Given the description of an element on the screen output the (x, y) to click on. 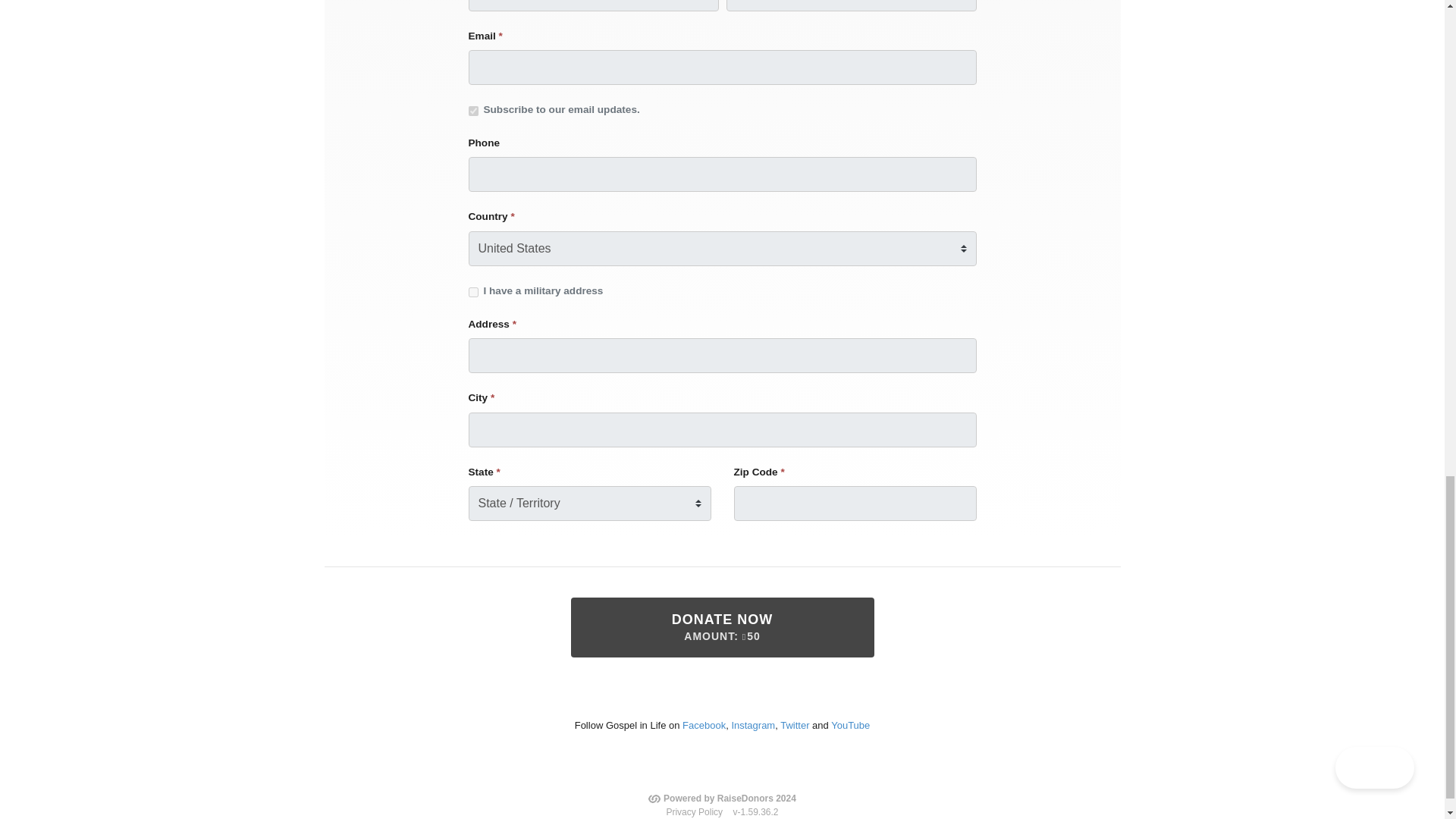
YouTube (850, 725)
Privacy Policy (693, 811)
Powered by RaiseDonors (721, 798)
Powered by RaiseDonors 2024 (721, 798)
Instagram (752, 725)
on (473, 292)
on (473, 111)
Facebook (703, 725)
Twitter (721, 627)
